Given the description of an element on the screen output the (x, y) to click on. 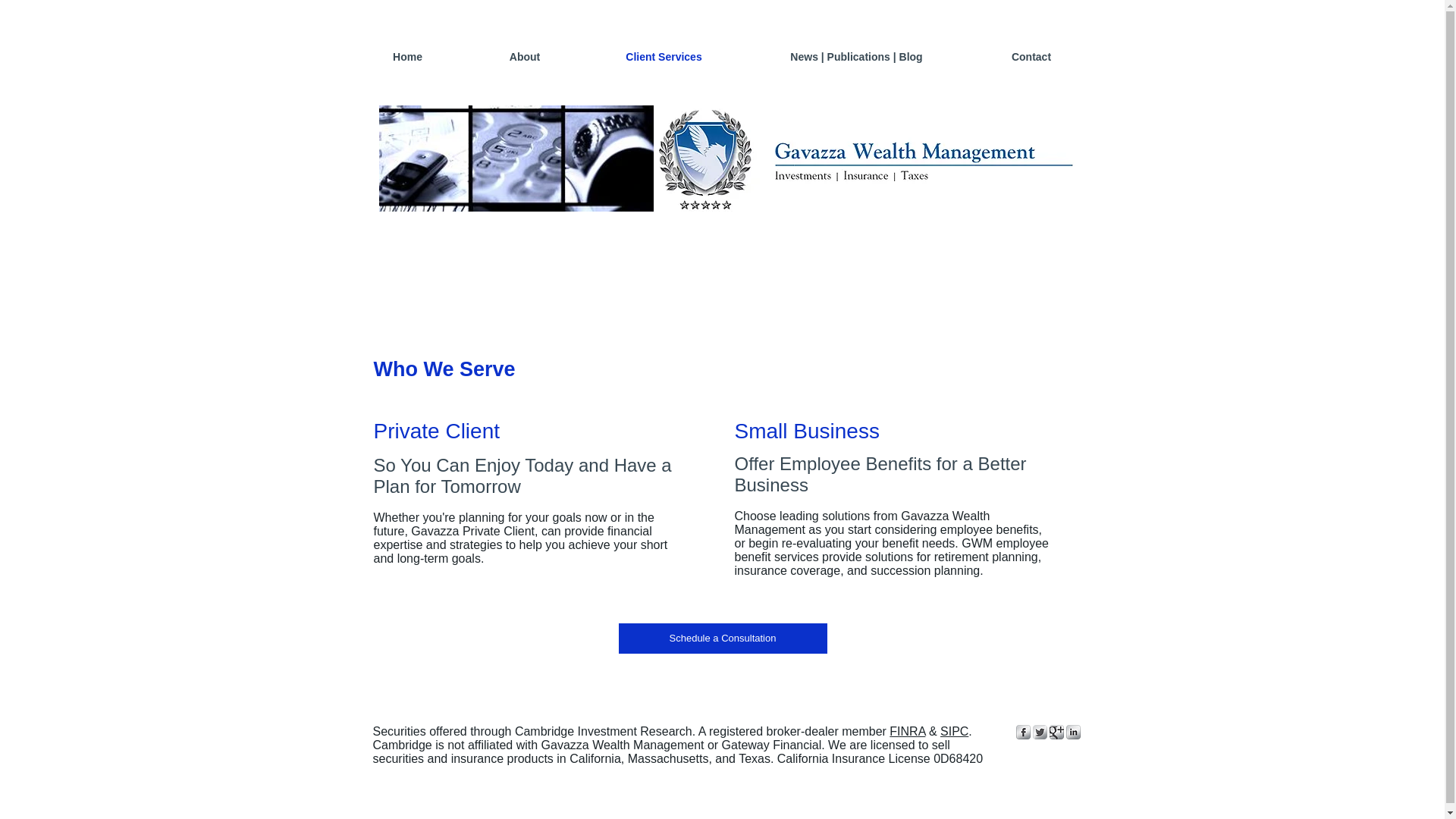
Contact (1031, 56)
SIPC (954, 730)
Client Services (663, 56)
FINRA (906, 730)
Home (407, 56)
Schedule a Consultation (722, 638)
About (524, 56)
